Given the description of an element on the screen output the (x, y) to click on. 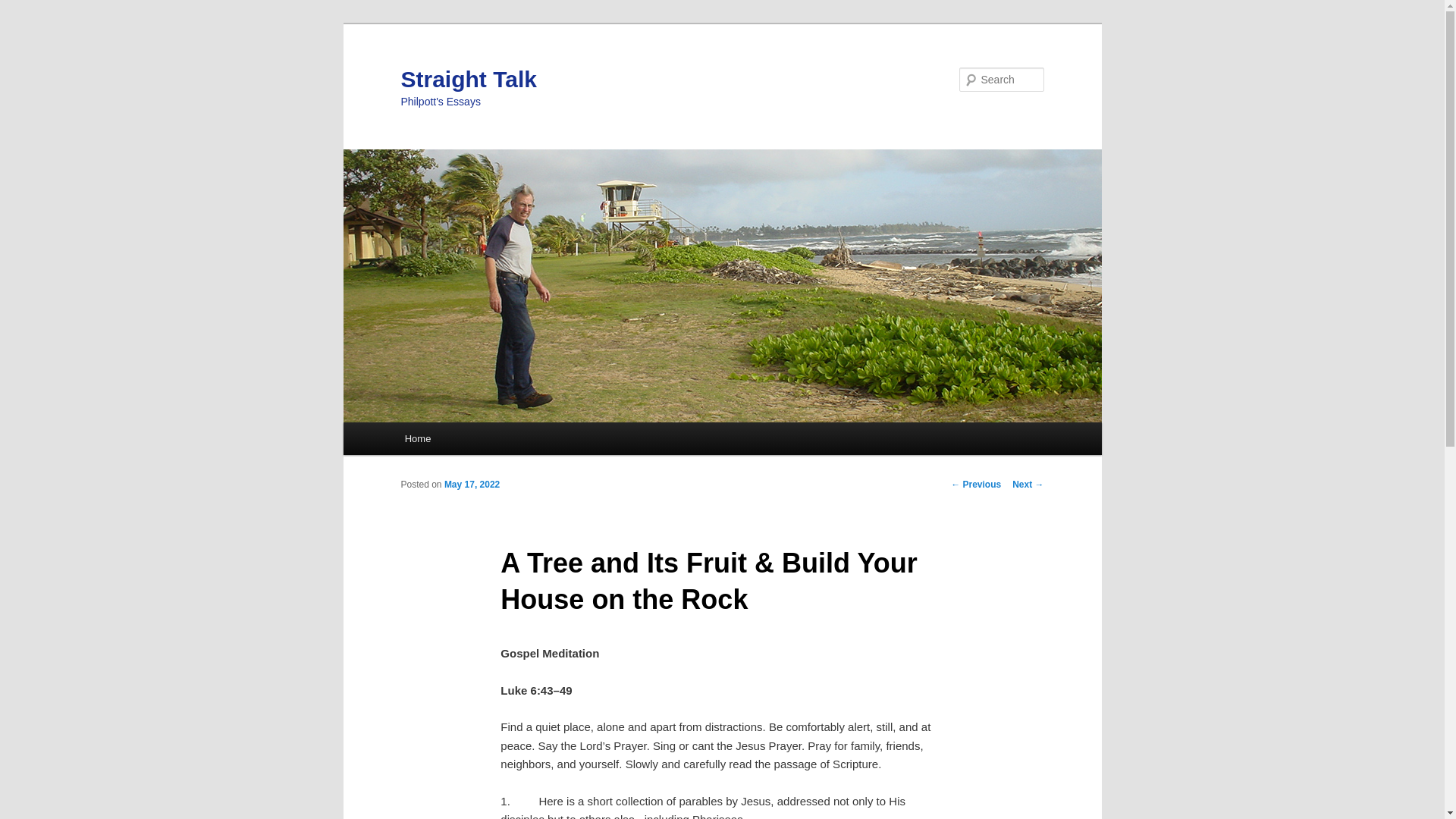
Straight Talk (467, 78)
6:38 pm (471, 484)
Skip to primary content (472, 441)
Skip to secondary content (479, 441)
Home (417, 438)
Search (24, 8)
May 17, 2022 (471, 484)
Straight Talk (467, 78)
Skip to secondary content (479, 441)
Skip to primary content (472, 441)
